Given the description of an element on the screen output the (x, y) to click on. 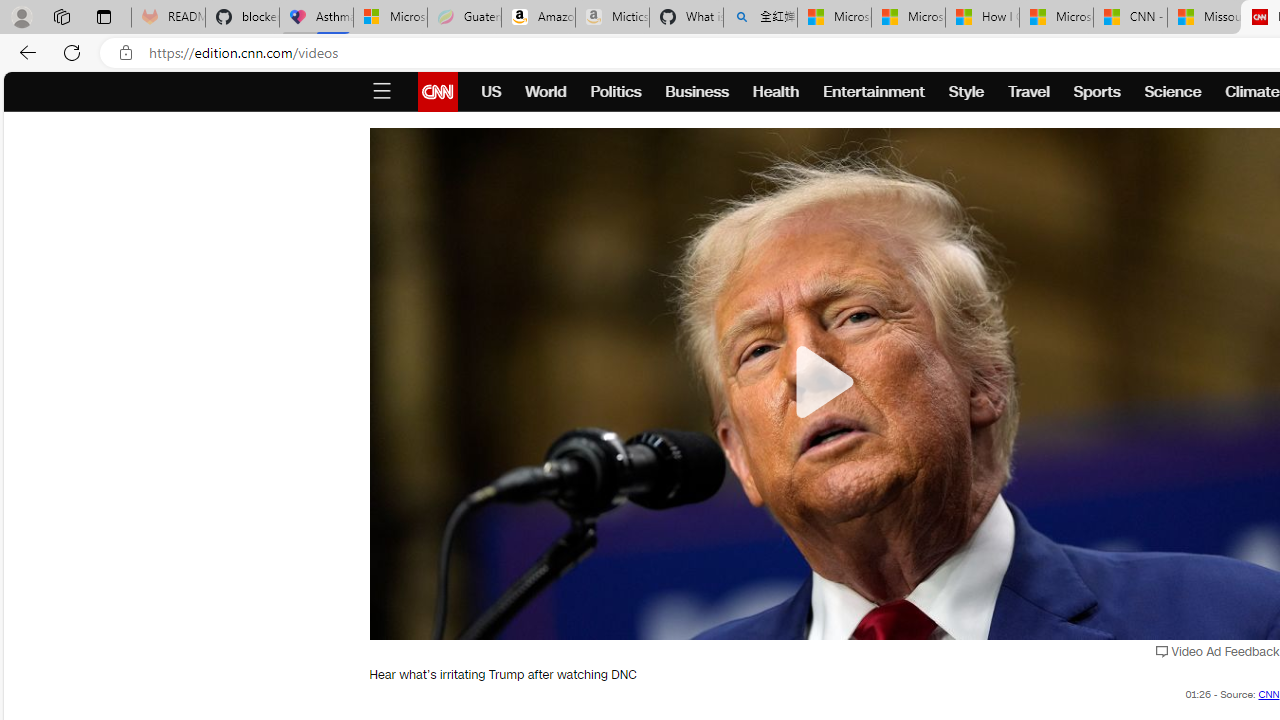
US (491, 92)
Style (966, 92)
Asthma Inhalers: Names and Types (316, 17)
How I Got Rid of Microsoft Edge's Unnecessary Features (981, 17)
Health (776, 92)
